Given the description of an element on the screen output the (x, y) to click on. 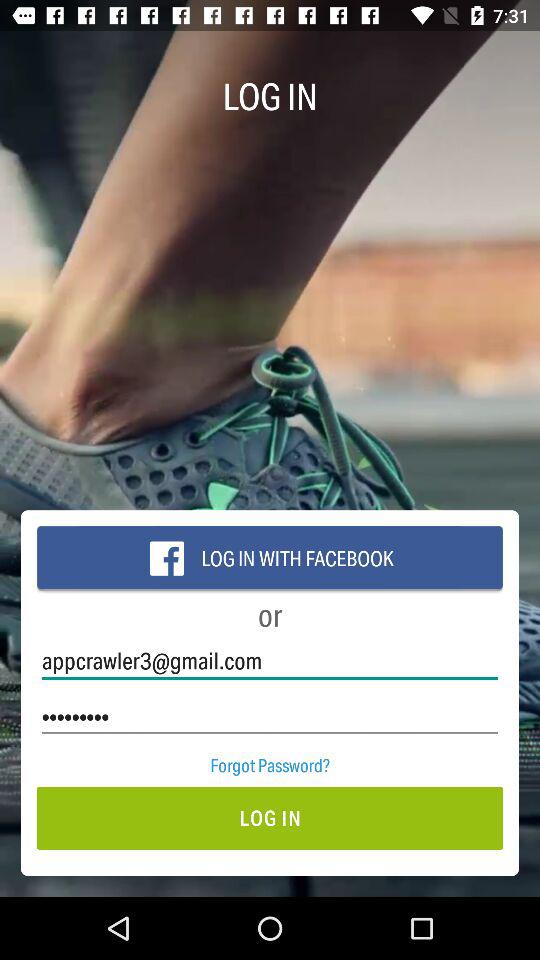
select the icon above the forgot password? icon (269, 715)
